Given the description of an element on the screen output the (x, y) to click on. 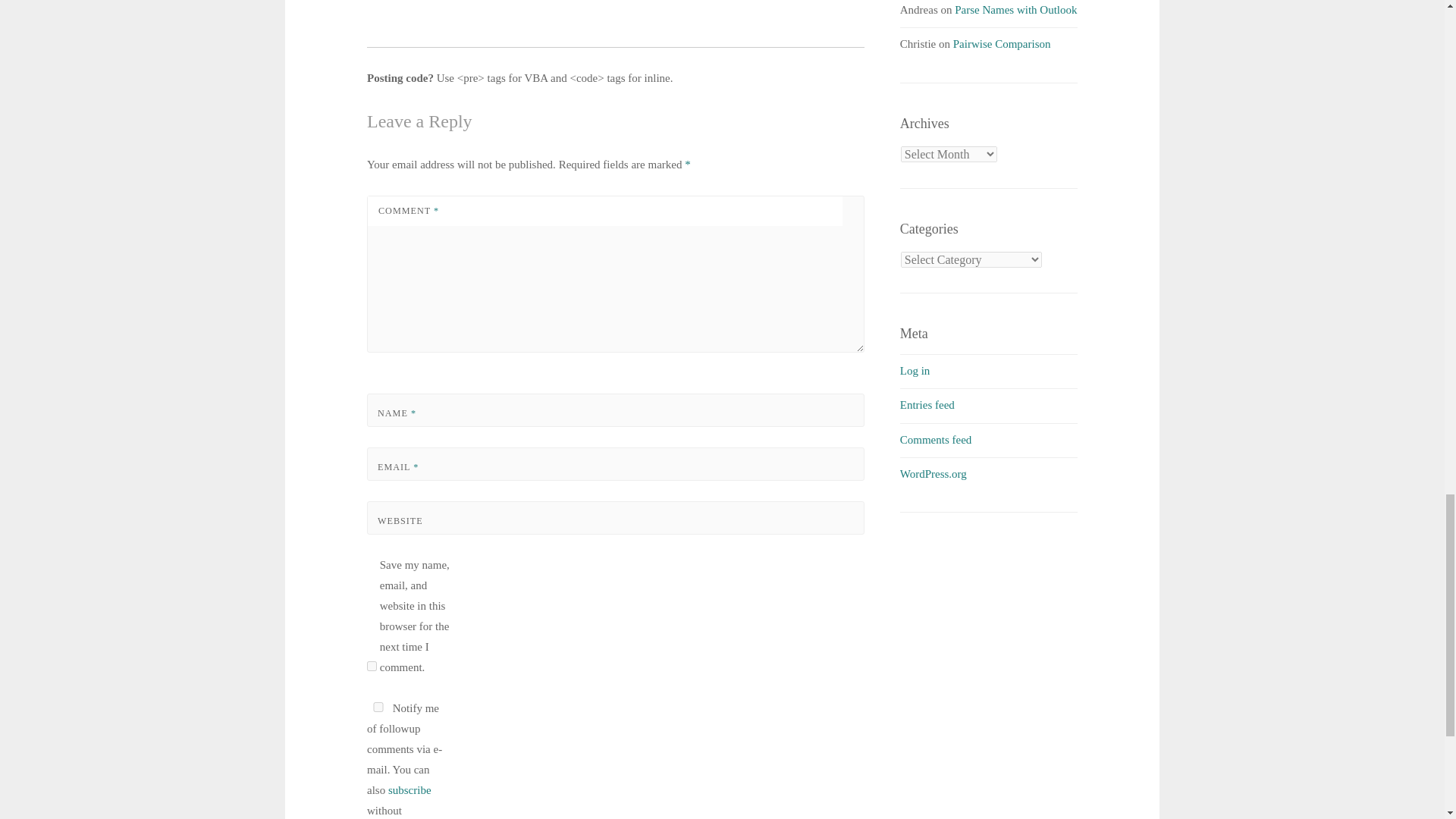
yes (371, 665)
yes (378, 706)
subscribe (409, 789)
